Given the description of an element on the screen output the (x, y) to click on. 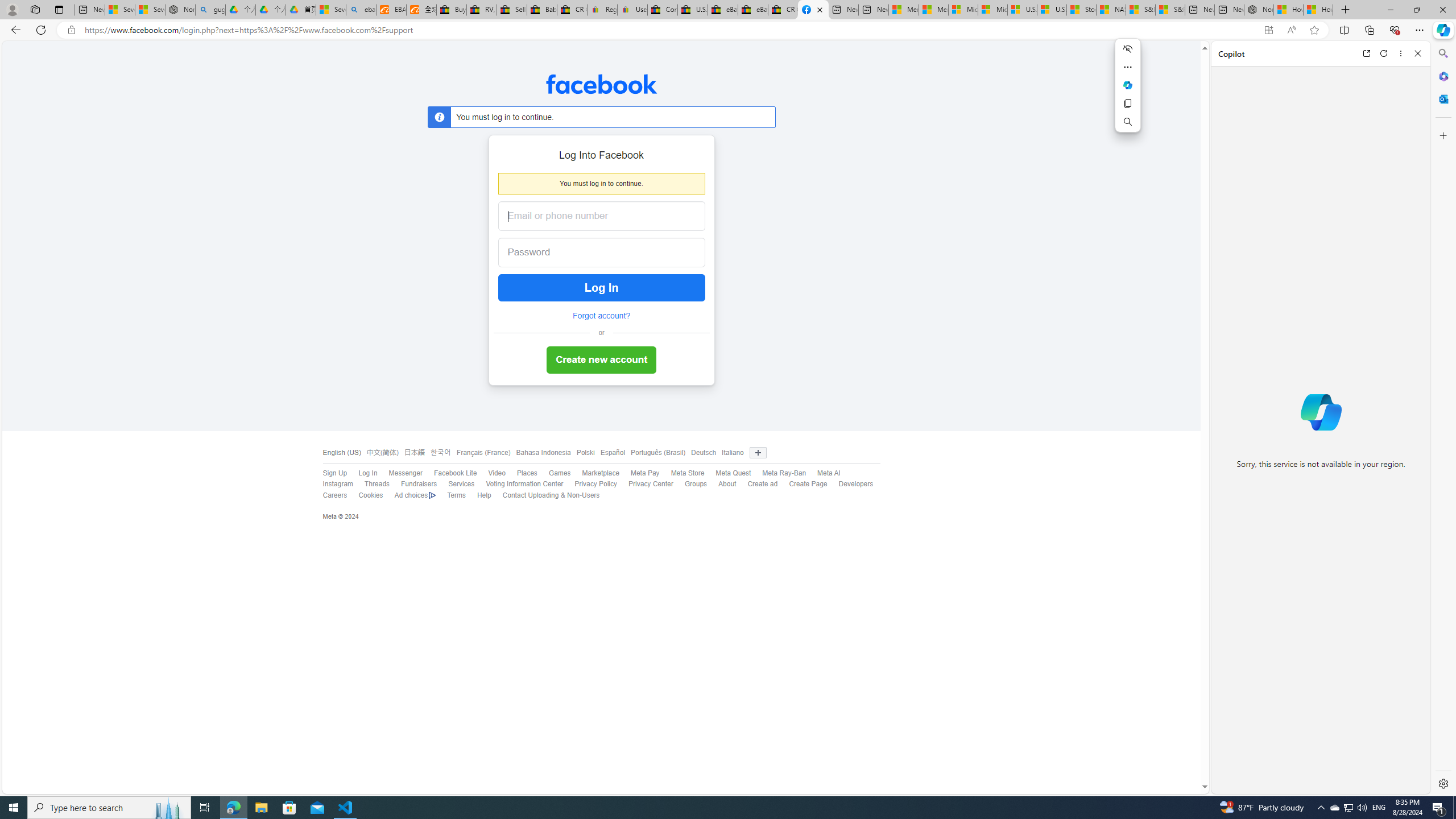
Threads (371, 484)
Open link in new tab (1366, 53)
User Privacy Notice | eBay (632, 9)
Help (478, 495)
Cookies (364, 495)
Terms (455, 494)
Fundraisers (412, 484)
Games (559, 473)
Deutsch (700, 452)
Contact Uploading & Non-Users (544, 495)
Create new account (601, 360)
Messenger (405, 473)
